Given the description of an element on the screen output the (x, y) to click on. 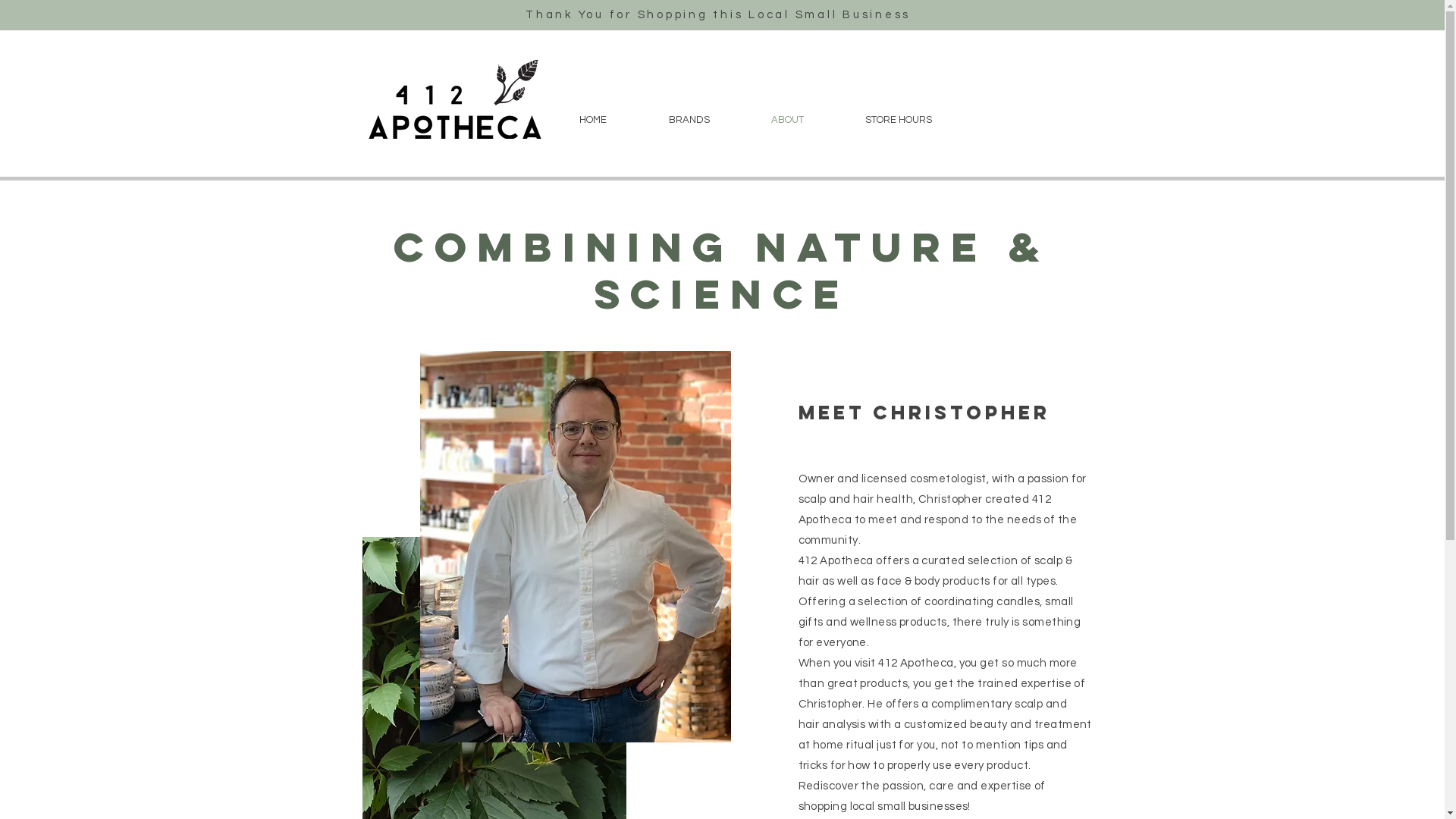
ABOUT Element type: text (787, 119)
STORE HOURS Element type: text (898, 119)
HOME Element type: text (592, 119)
BRANDS Element type: text (688, 119)
